Given the description of an element on the screen output the (x, y) to click on. 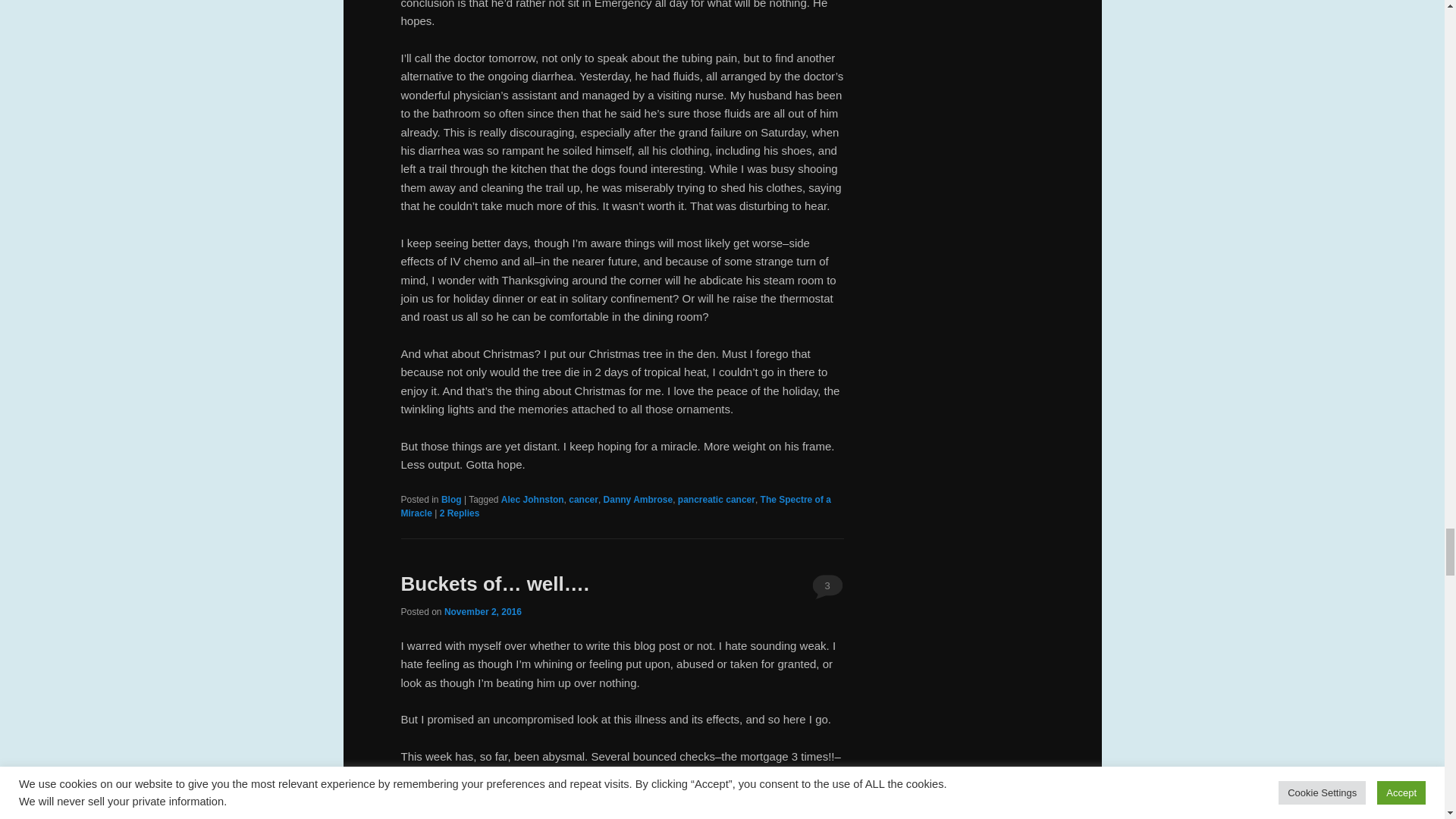
8:30 pm (482, 611)
